Given the description of an element on the screen output the (x, y) to click on. 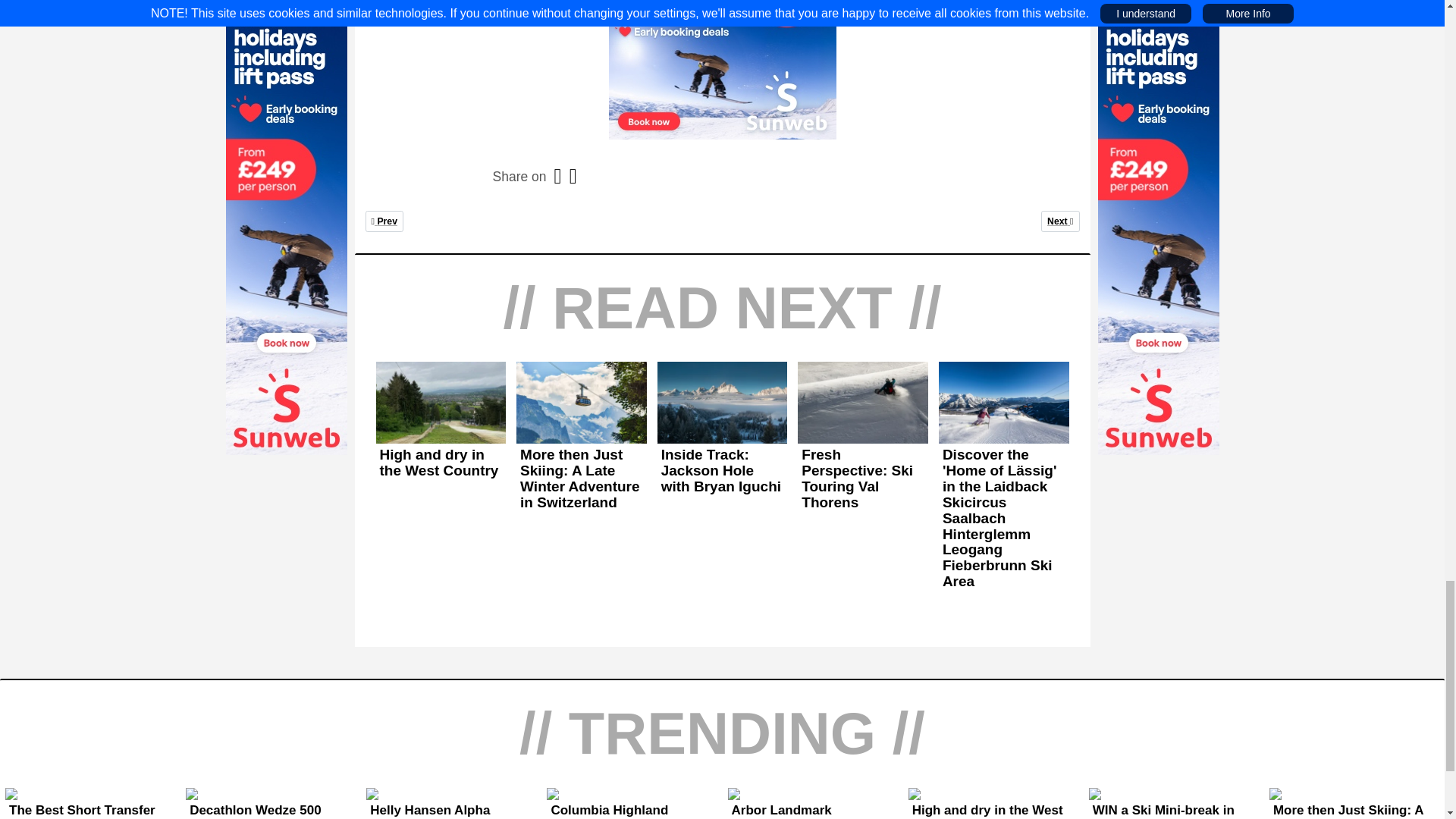
Fresh Perspective: Ski Touring Val Thorens (862, 479)
High and dry in the West Country (440, 463)
Inside Track: Jackson Hole with Bryan Iguchi (384, 220)
Sunweb MPU Aug 24 (722, 470)
